Given the description of an element on the screen output the (x, y) to click on. 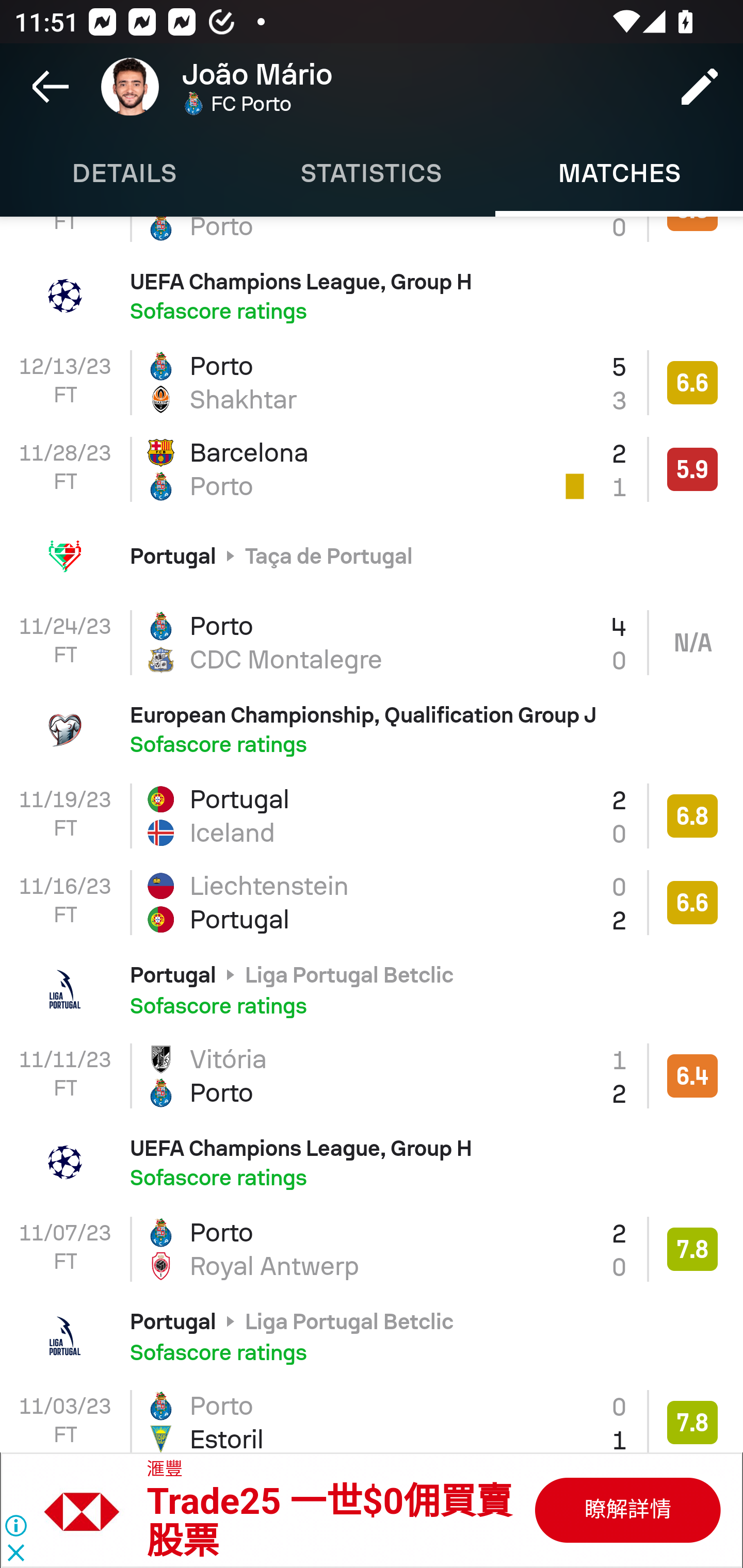
Navigate up (50, 86)
Edit (699, 86)
Details DETAILS (123, 173)
Statistics STATISTICS (371, 173)
UEFA Champions League, Group H Sofascore ratings (371, 295)
12/13/23 FT Porto 5 Shakhtar 3 6.6 (371, 382)
6.6 (692, 382)
11/28/23 FT Barcelona 2 Porto 1 5.9 (371, 469)
5.9 (692, 469)
Portugal Taça de Portugal (371, 555)
11/24/23 FT Porto 4 CDC Montalegre 0 N/A (371, 642)
N/A (692, 642)
11/19/23 FT Portugal 2 Iceland 0 6.8 (371, 816)
6.8 (692, 815)
11/16/23 FT Liechtenstein 0 Portugal 2 6.6 (371, 902)
6.6 (692, 902)
Portugal Liga Portugal Betclic Sofascore ratings (371, 989)
11/11/23 FT Vitória 1 Porto 2 6.4 (371, 1076)
6.4 (692, 1075)
UEFA Champions League, Group H Sofascore ratings (371, 1162)
11/07/23 FT Porto 2 Royal Antwerp 0 7.8 (371, 1248)
7.8 (692, 1249)
Portugal Liga Portugal Betclic Sofascore ratings (371, 1335)
11/03/23 FT Porto 0 Estoril 1 7.8 (371, 1415)
7.8 (692, 1422)
滙豐 (164, 1469)
B31525787 (92, 1509)
B31525787 (626, 1509)
Trade25 一世$0佣買賣 股票 Trade25 一世$0佣買賣 股票 (328, 1521)
